Given the description of an element on the screen output the (x, y) to click on. 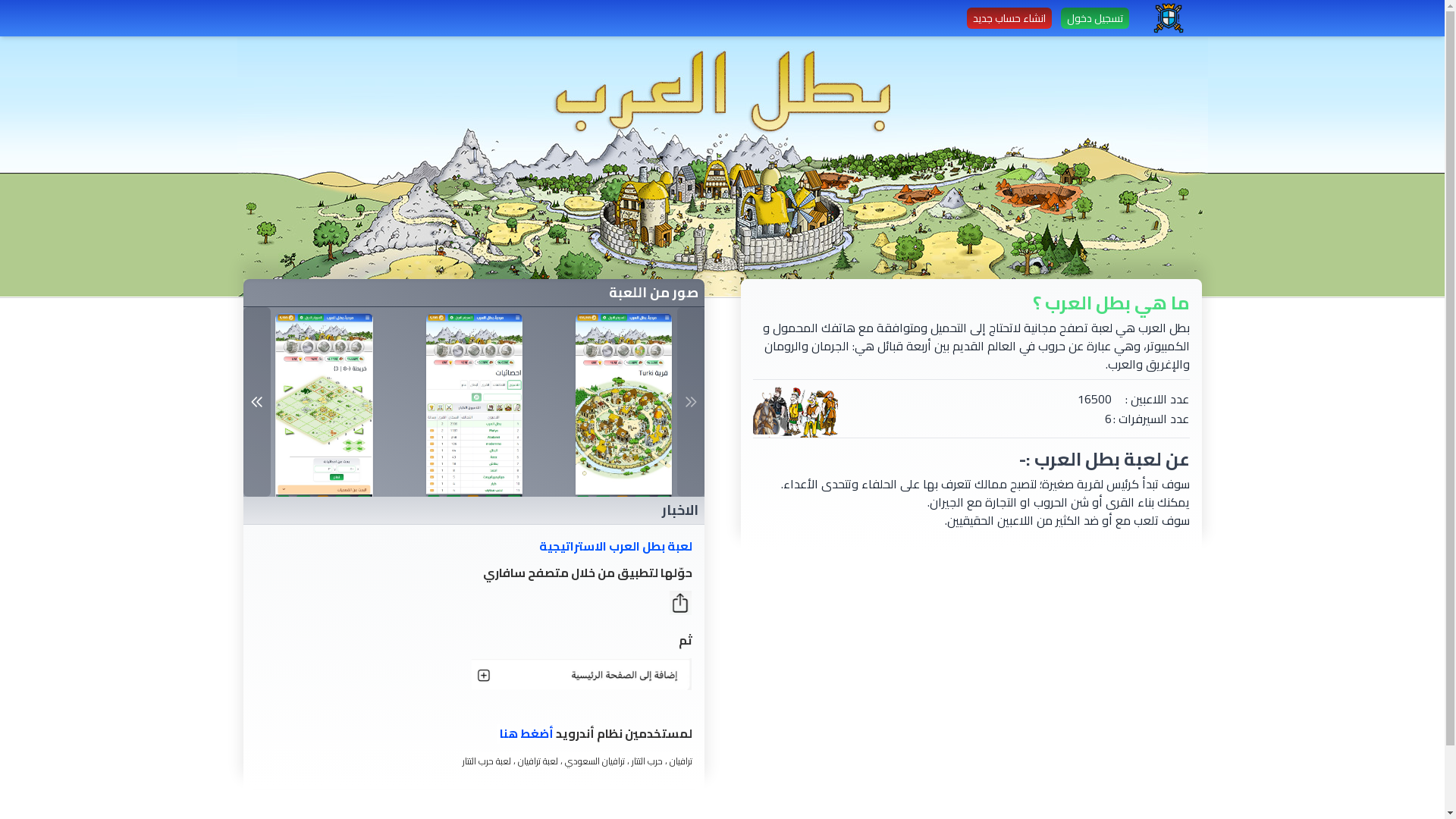
Workflow Element type: text (1167, 18)
